Given the description of an element on the screen output the (x, y) to click on. 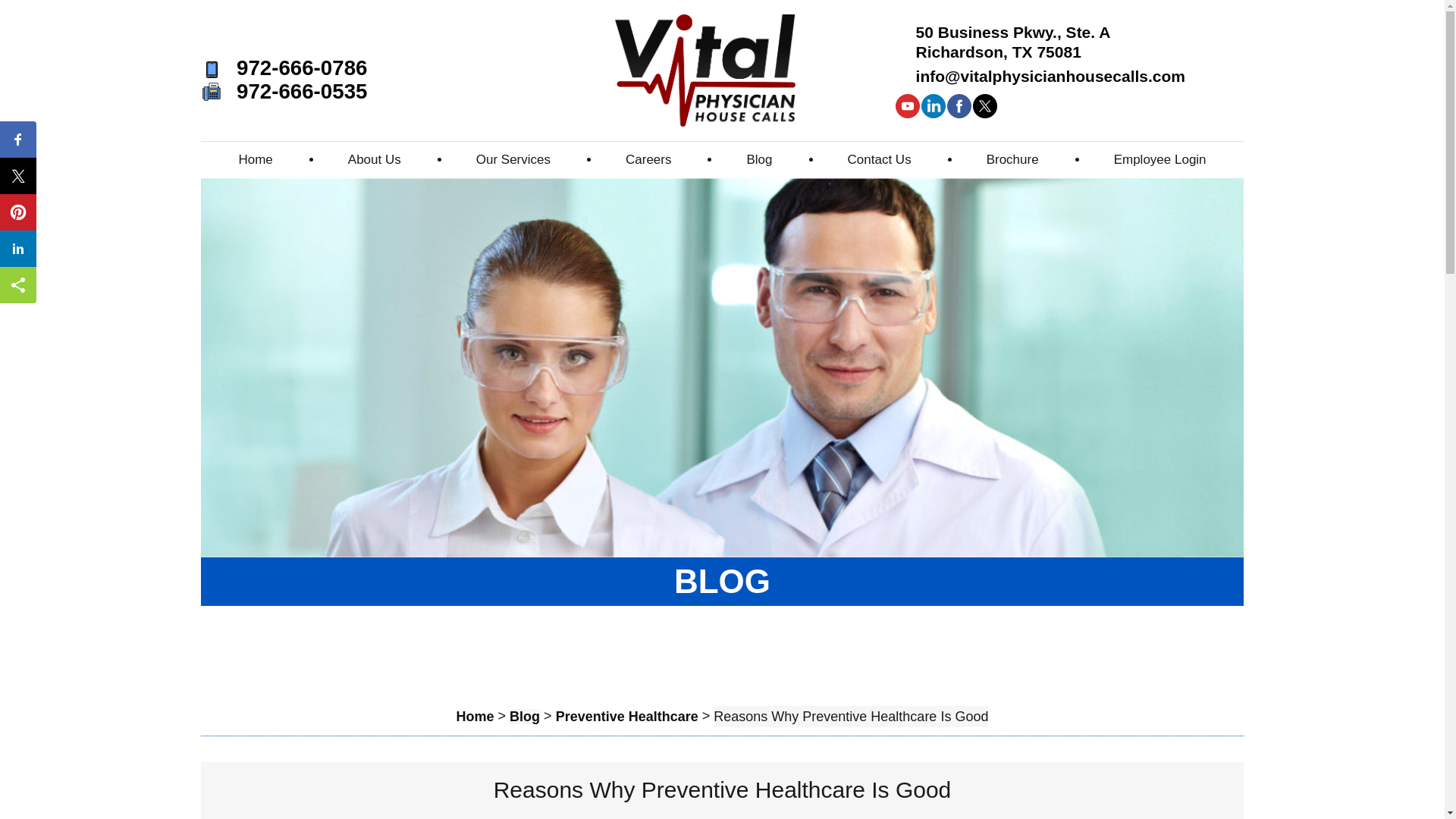
View all posts by Louise Savoie (818, 818)
Our Services (513, 159)
Employee Login (1159, 159)
Home (255, 159)
Blog (524, 716)
Go to Home. (476, 716)
Home (476, 716)
Careers (648, 159)
About Us (374, 159)
Preventive Healthcare (627, 716)
Louise Savoie (818, 818)
Contact Us (879, 159)
Go to the Preventive Healthcare category archives. (627, 716)
Blog (759, 159)
Brochure (1012, 159)
